Given the description of an element on the screen output the (x, y) to click on. 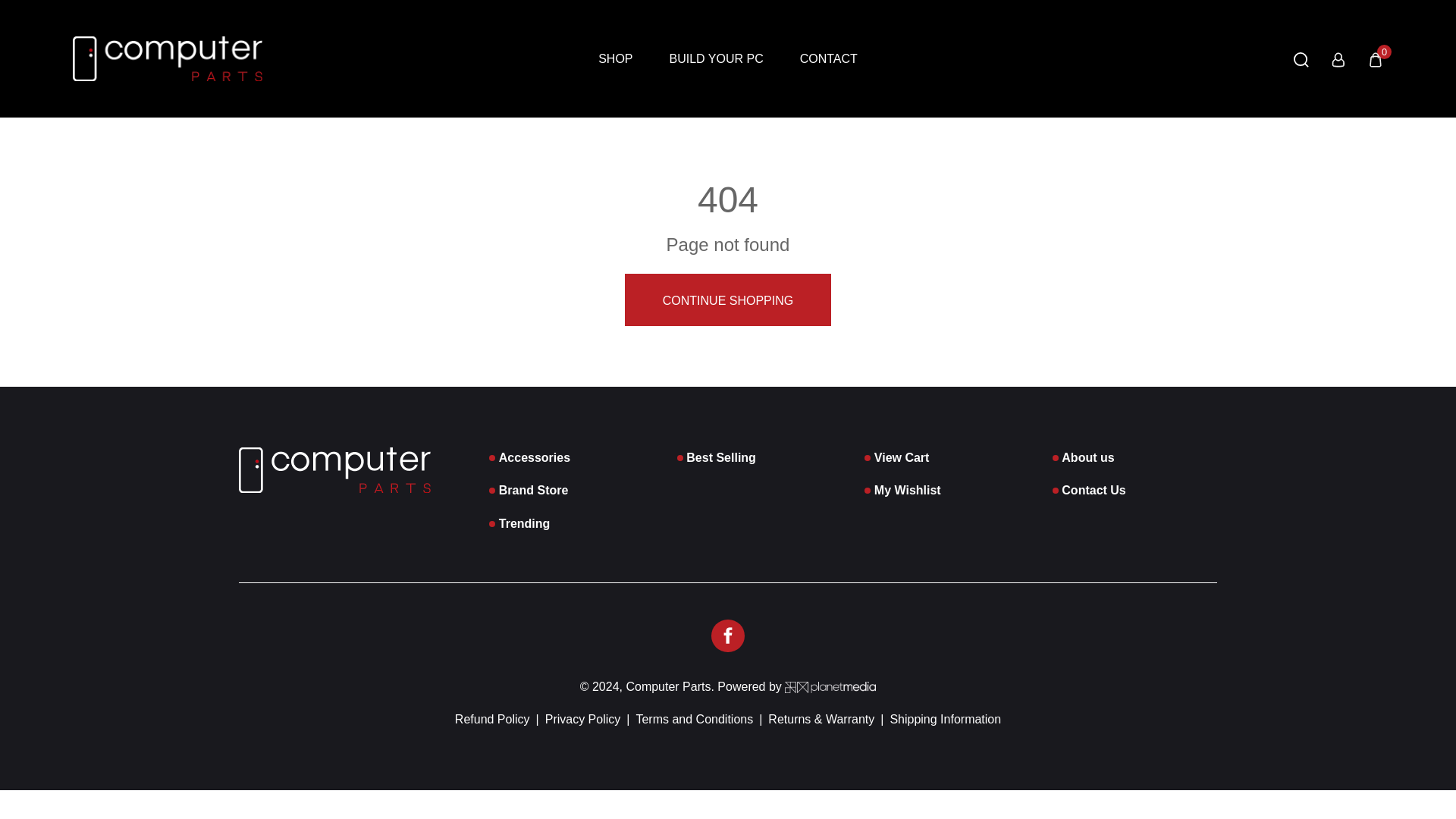
CONTINUE SHOPPING (727, 299)
BUILD YOUR PC (715, 58)
Brand Store (534, 490)
Privacy Policy (582, 718)
Best Selling (720, 457)
My Wishlist (907, 490)
CONTACT (828, 58)
Shipping Information (945, 718)
Computer Parts (668, 686)
SHOP (614, 58)
View Cart (902, 457)
Refund Policy (491, 718)
Terms and Conditions (693, 718)
Trending (524, 522)
Accessories (534, 457)
